Given the description of an element on the screen output the (x, y) to click on. 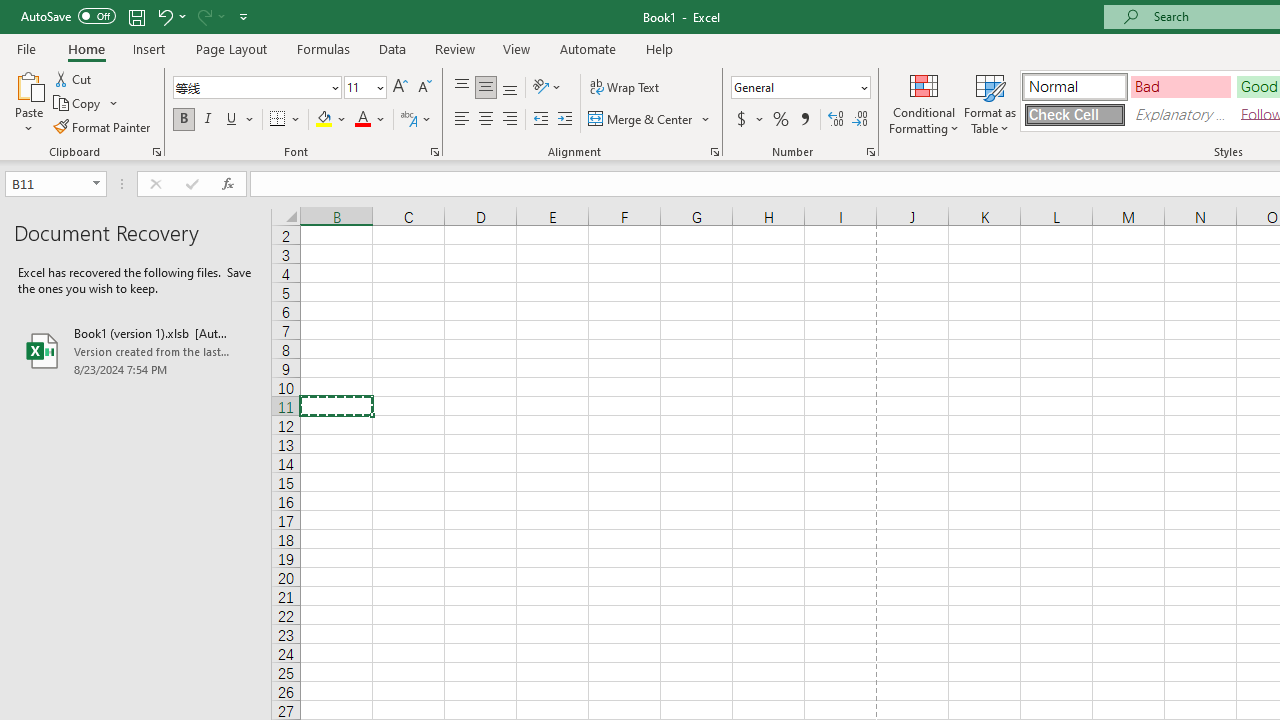
Font (256, 87)
Center (485, 119)
Format Painter (103, 126)
Font Color (370, 119)
Conditional Formatting (924, 102)
Increase Font Size (399, 87)
Show Phonetic Field (416, 119)
Increase Decimal (836, 119)
Font Size (358, 87)
Wrap Text (624, 87)
Underline (232, 119)
Percent Style (781, 119)
